Given the description of an element on the screen output the (x, y) to click on. 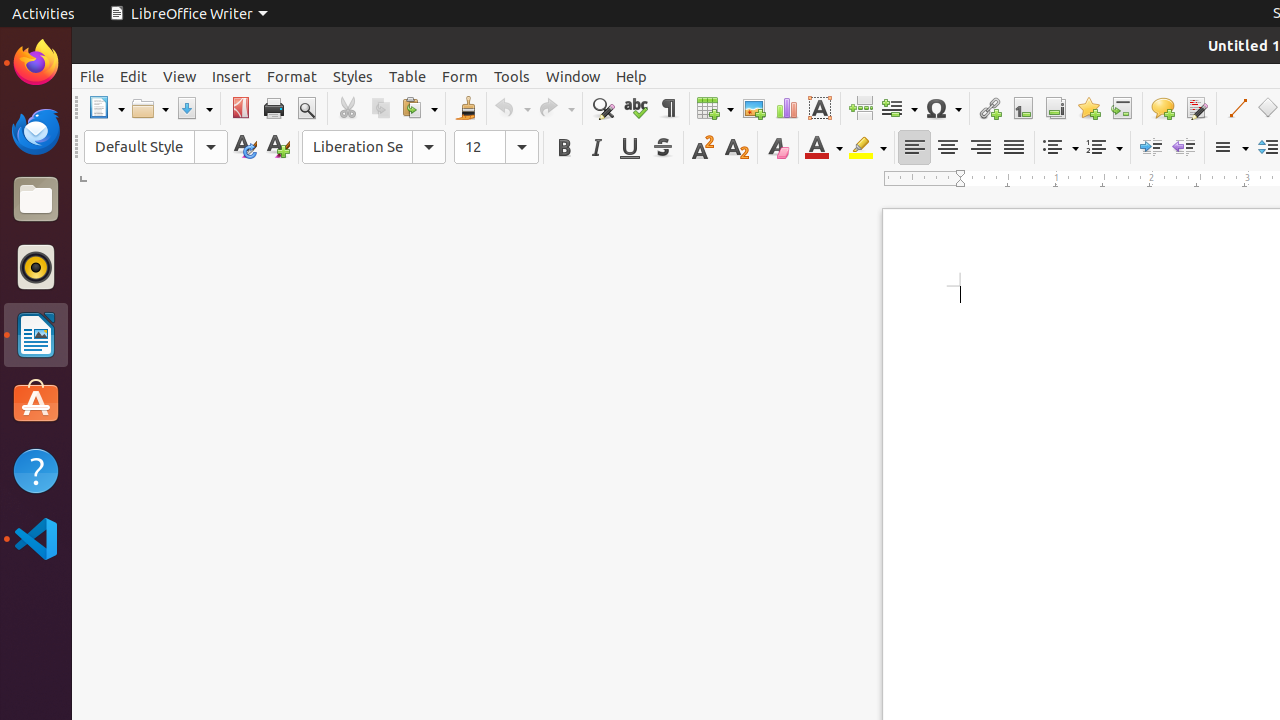
PDF Element type: push-button (240, 108)
Bold Element type: toggle-button (563, 147)
Undo Element type: push-button (512, 108)
Clone Element type: push-button (465, 108)
